Given the description of an element on the screen output the (x, y) to click on. 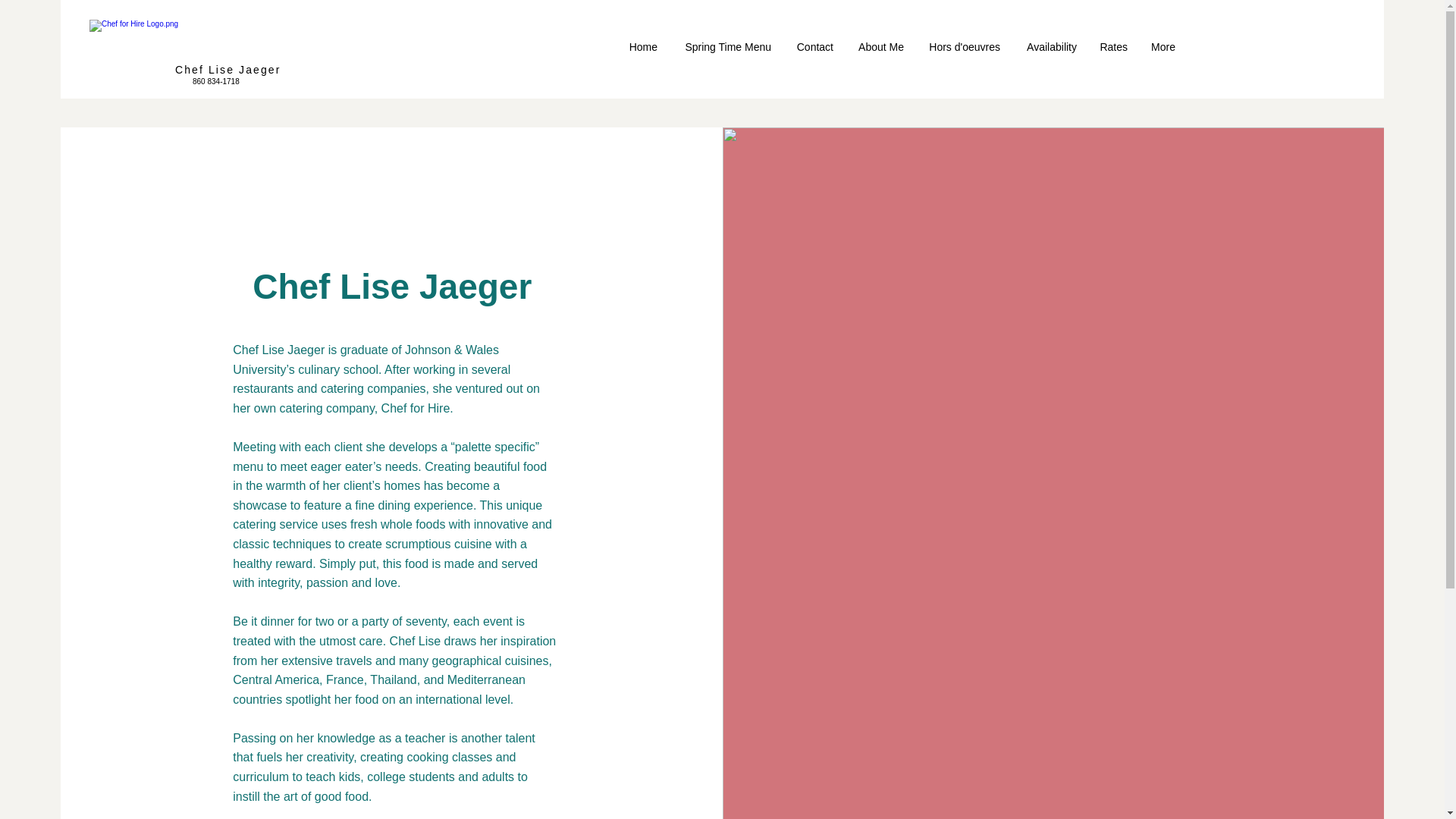
Home (641, 46)
Contact (813, 46)
Chef Lise Jaeger (227, 69)
Rates (1112, 46)
About Me (879, 46)
Availability (1049, 46)
Log In (1013, 50)
Spring Time Menu (725, 46)
Hors d'oeuvres (963, 46)
